Given the description of an element on the screen output the (x, y) to click on. 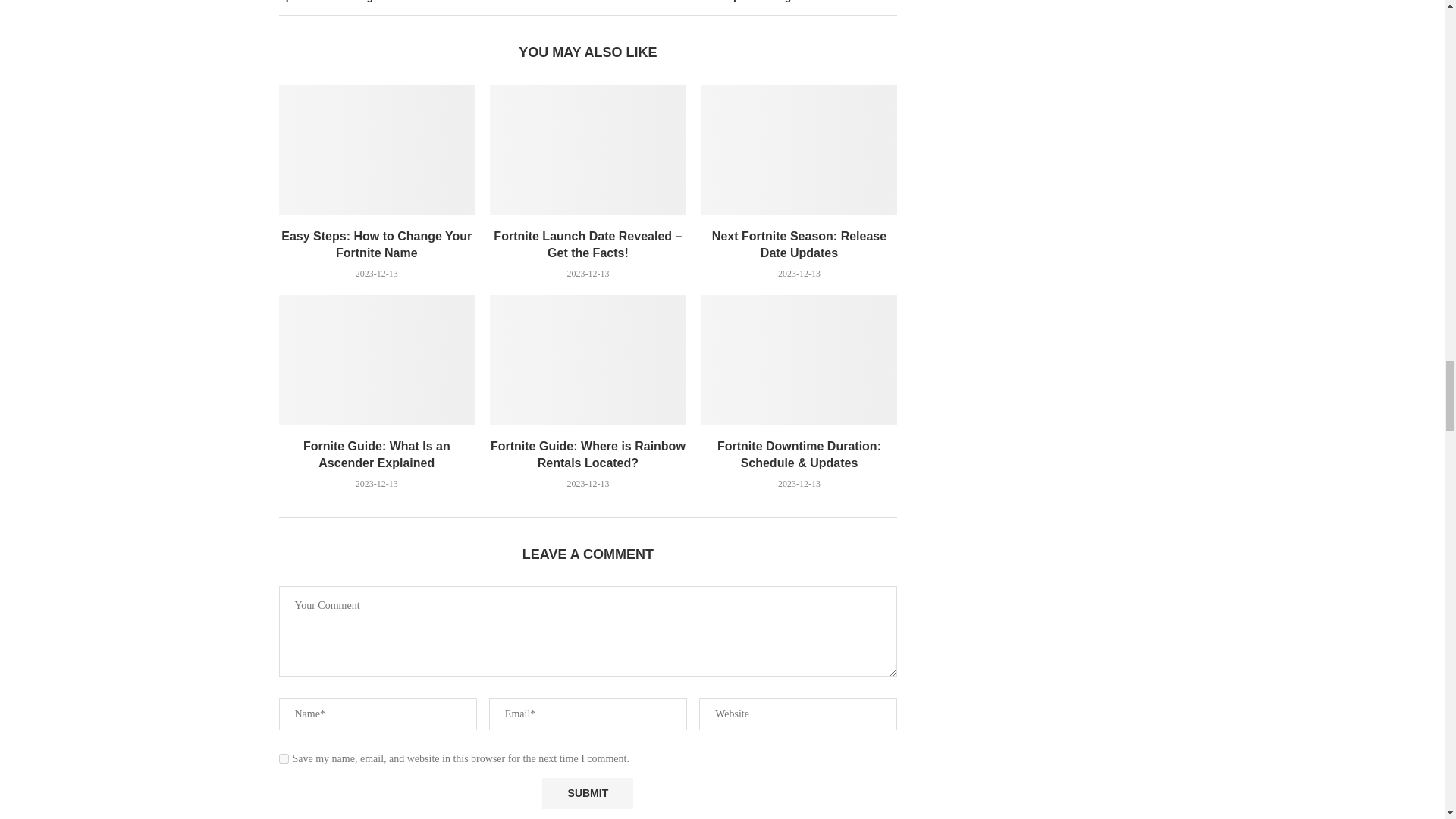
yes (283, 758)
Submit (587, 793)
